Given the description of an element on the screen output the (x, y) to click on. 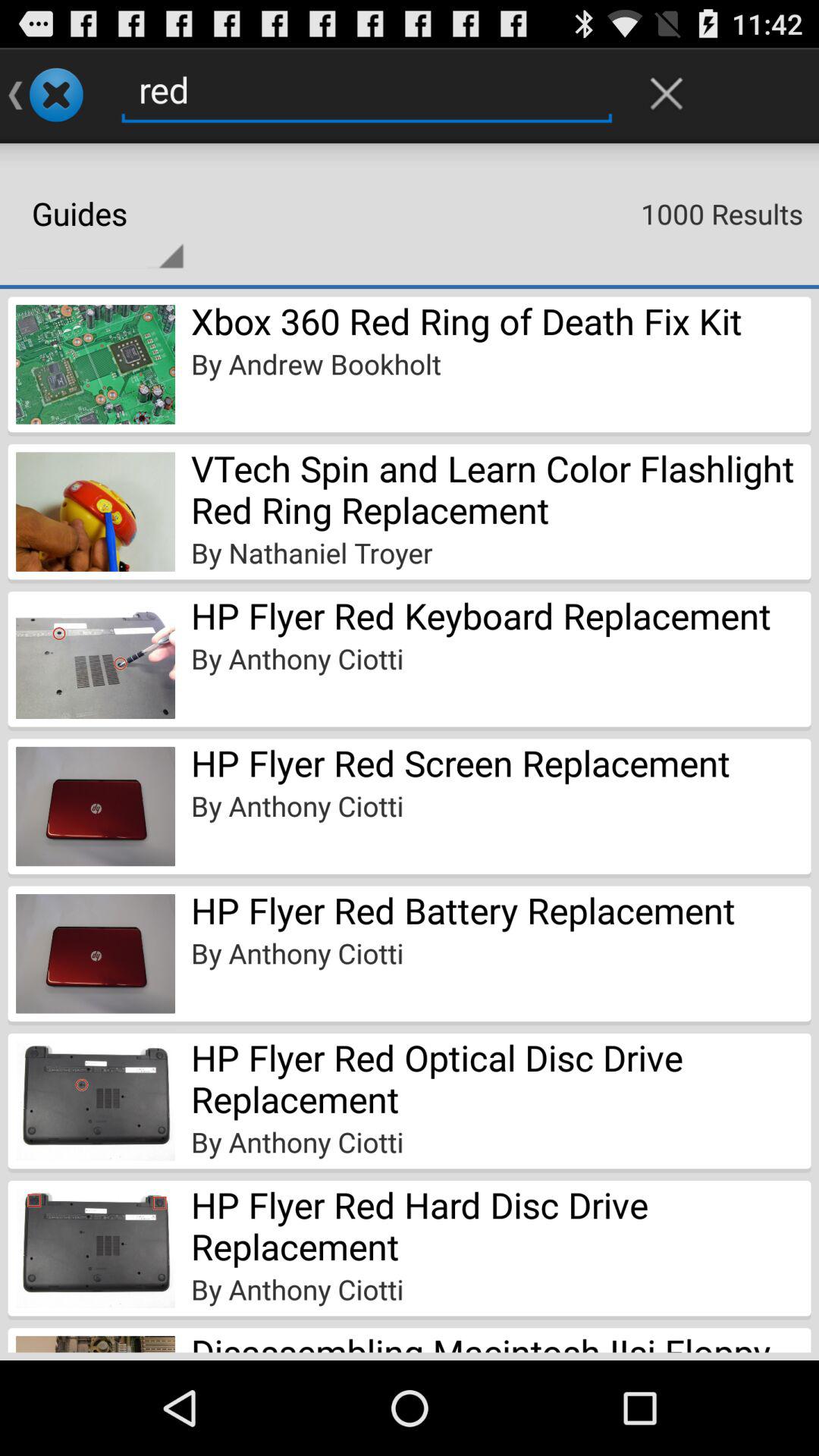
scroll until the disassembling macintosh iisi app (501, 1340)
